Given the description of an element on the screen output the (x, y) to click on. 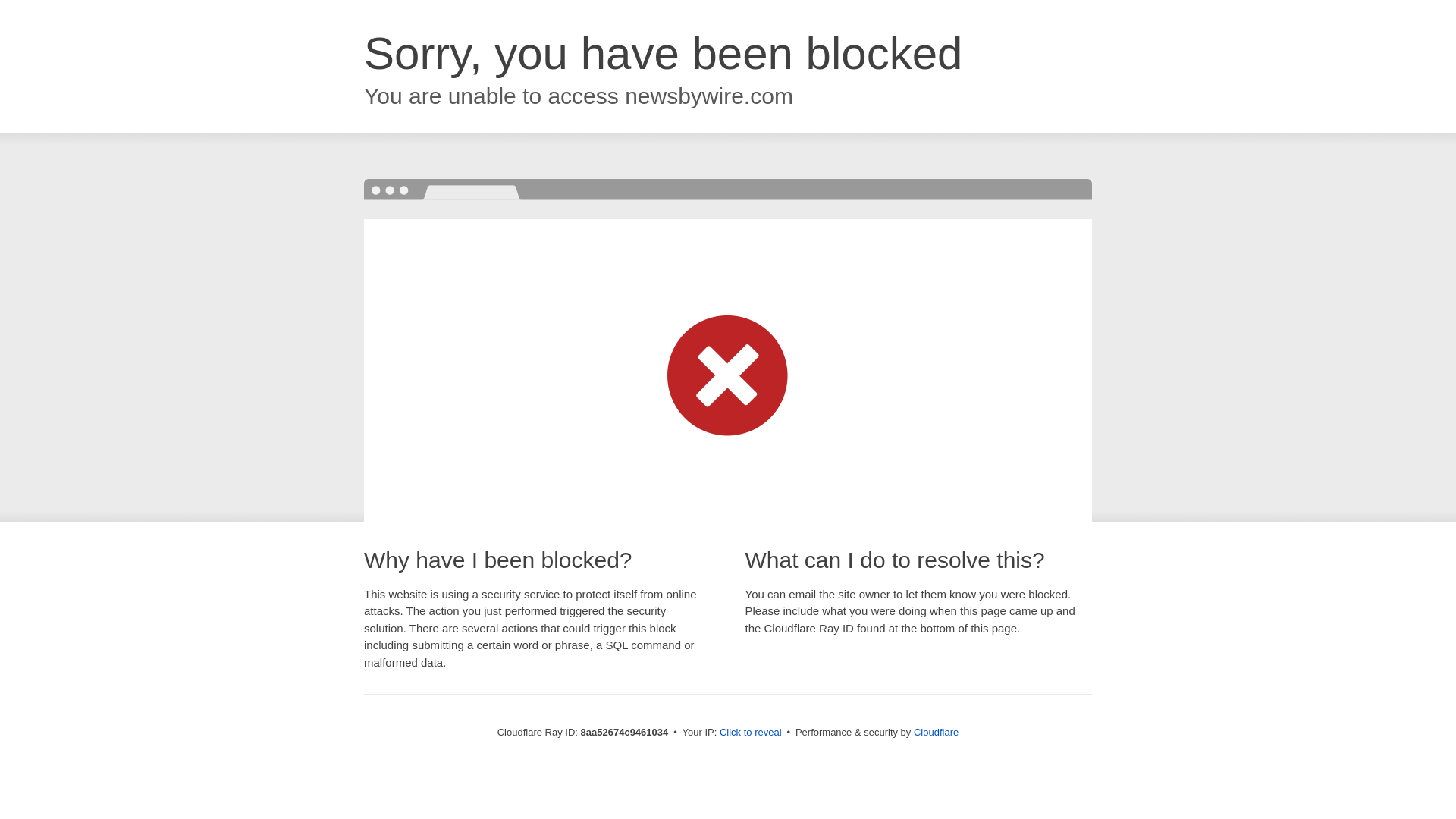
Click to reveal (750, 732)
Cloudflare (936, 731)
